Given the description of an element on the screen output the (x, y) to click on. 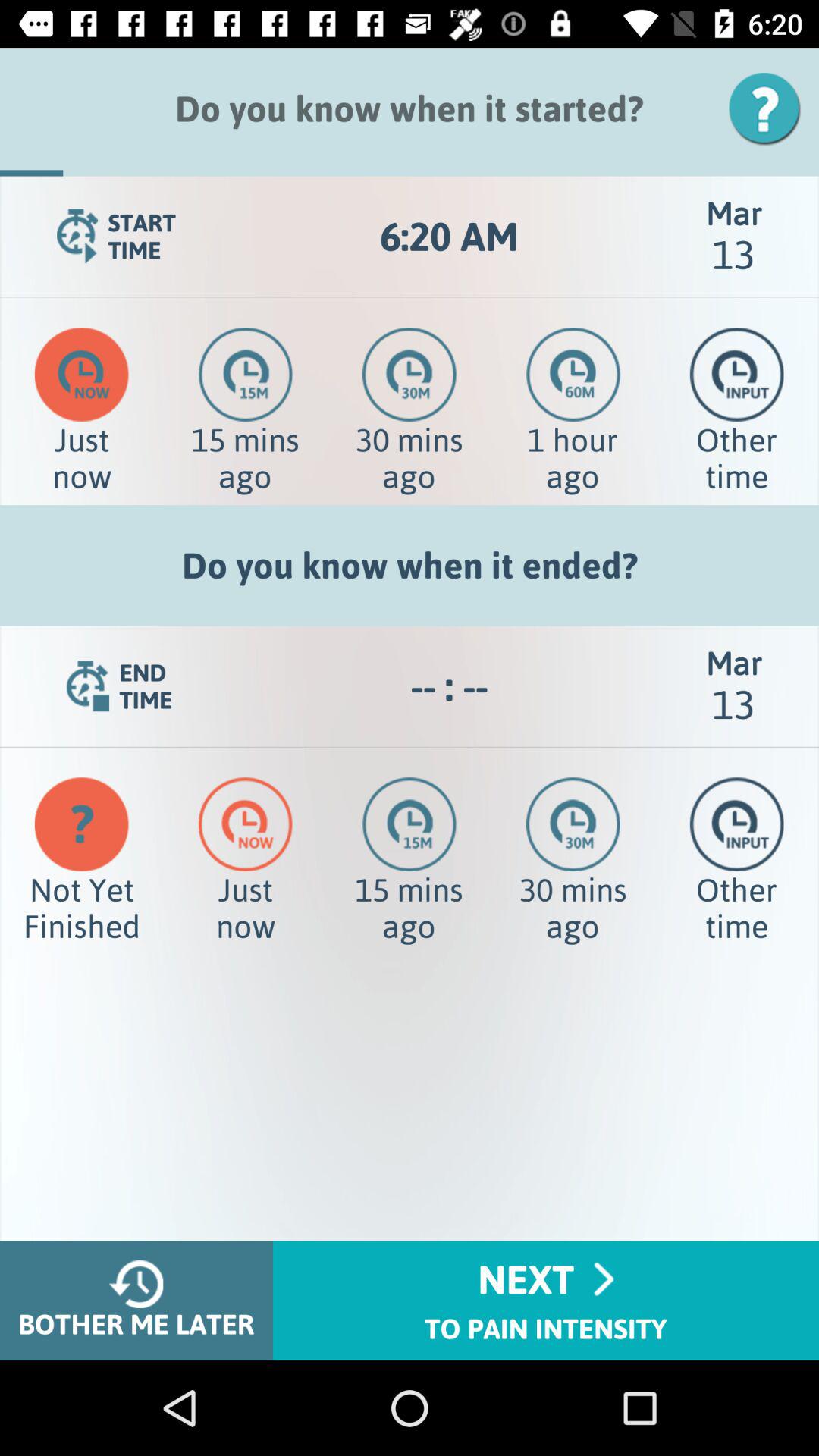
choose the item next to the start
time app (448, 236)
